Given the description of an element on the screen output the (x, y) to click on. 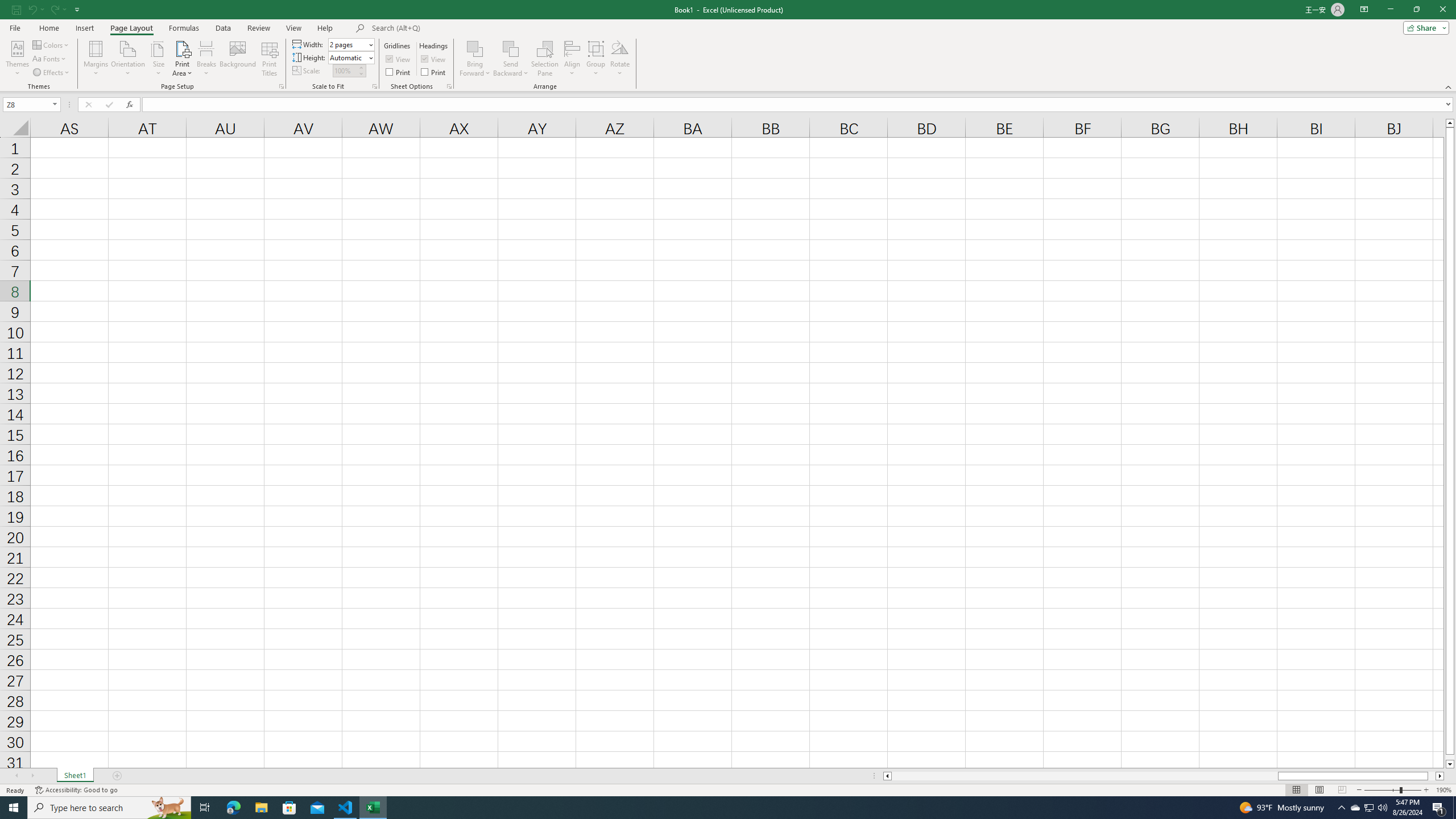
Bring Forward (475, 48)
Margins (95, 58)
Orientation (128, 58)
Group (595, 58)
Print Titles (269, 58)
Print Area (182, 58)
